Given the description of an element on the screen output the (x, y) to click on. 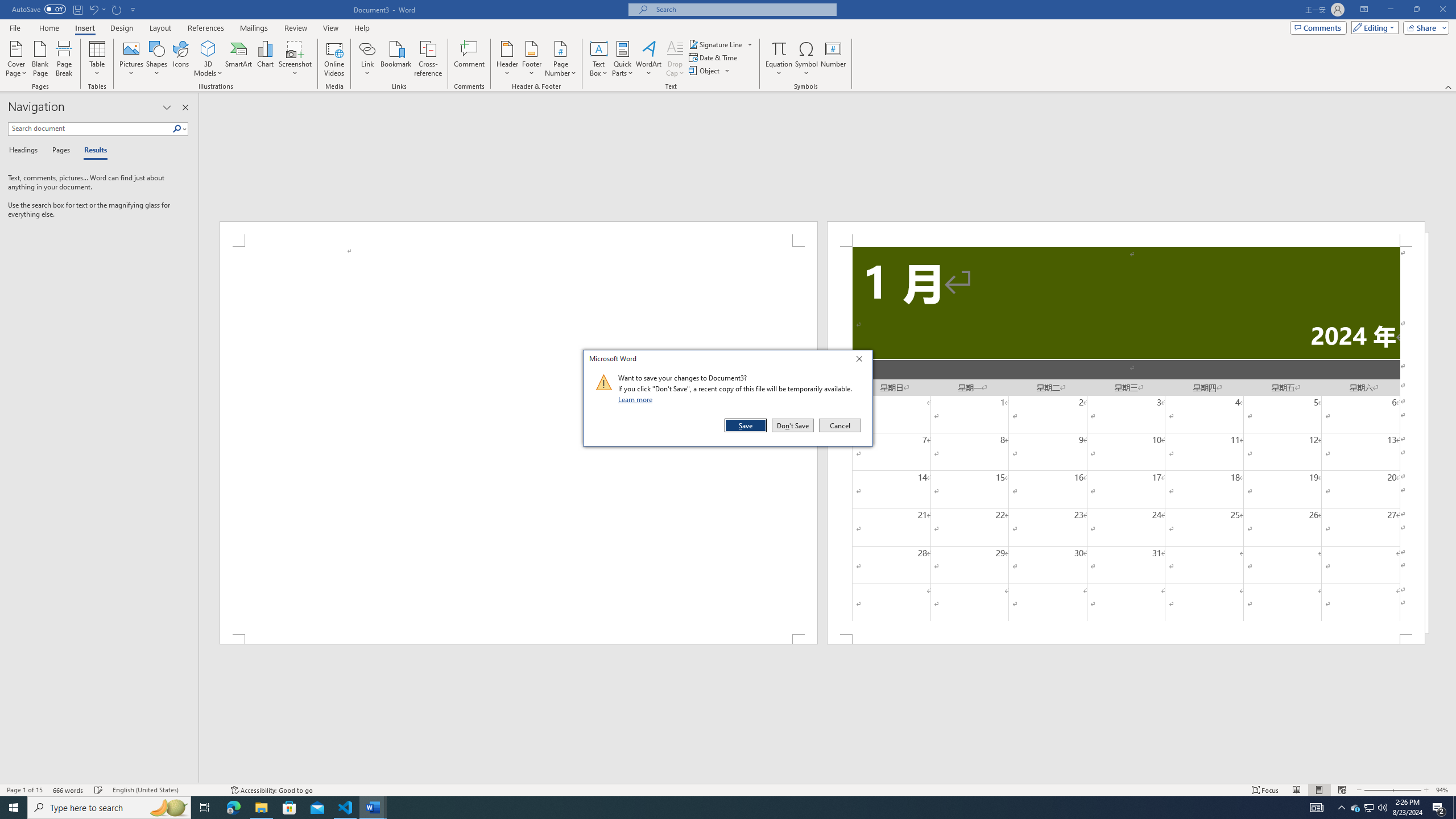
Chart... (265, 58)
Shapes (156, 58)
Page Break (63, 58)
Equation (778, 48)
3D Models (208, 58)
SmartArt... (238, 58)
